Given the description of an element on the screen output the (x, y) to click on. 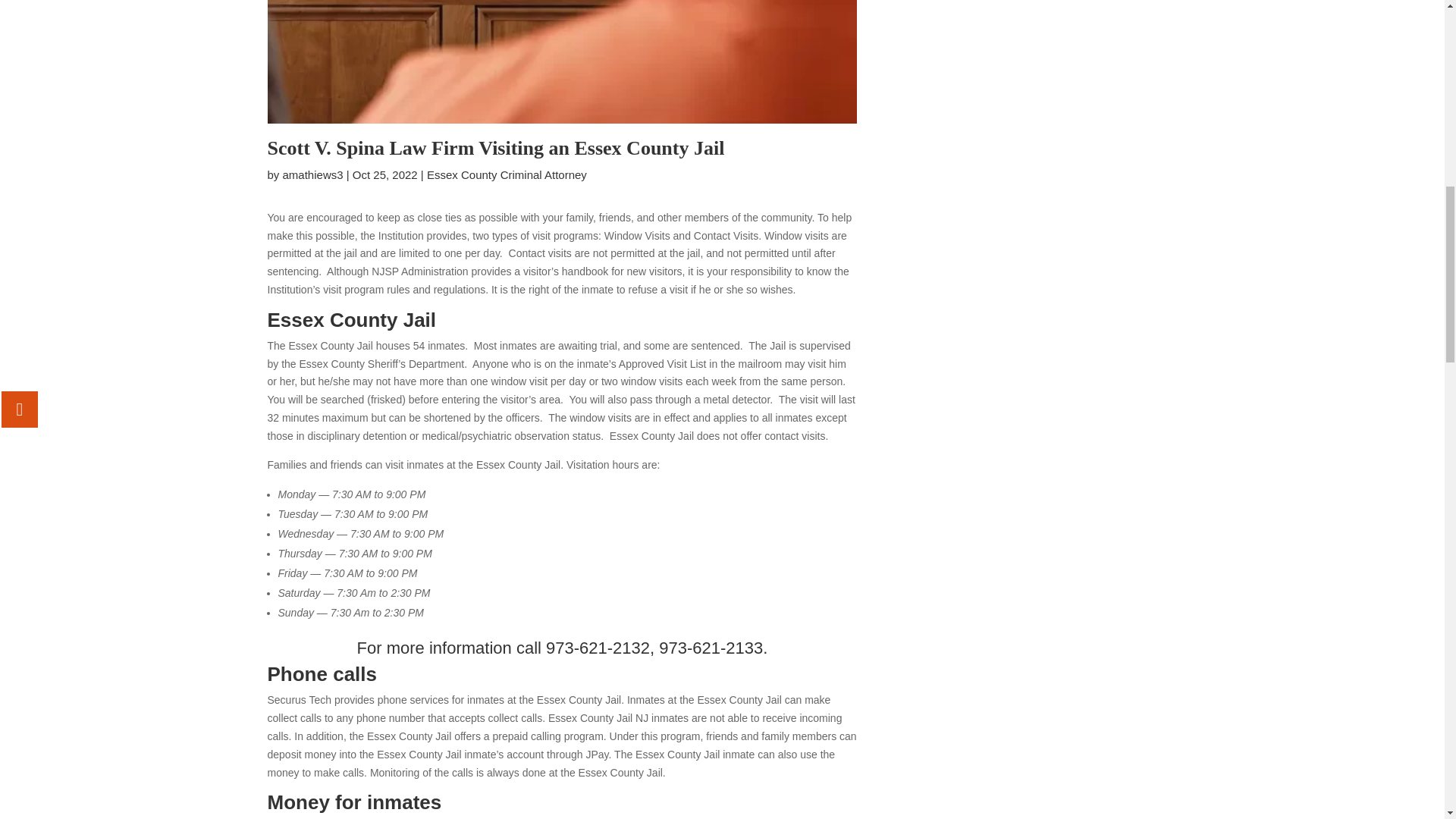
Essex County Criminal Attorney (506, 174)
amathiews3 (312, 174)
Posts by amathiews3 (312, 174)
essex county nj criminal defense lawyer (561, 61)
